Given the description of an element on the screen output the (x, y) to click on. 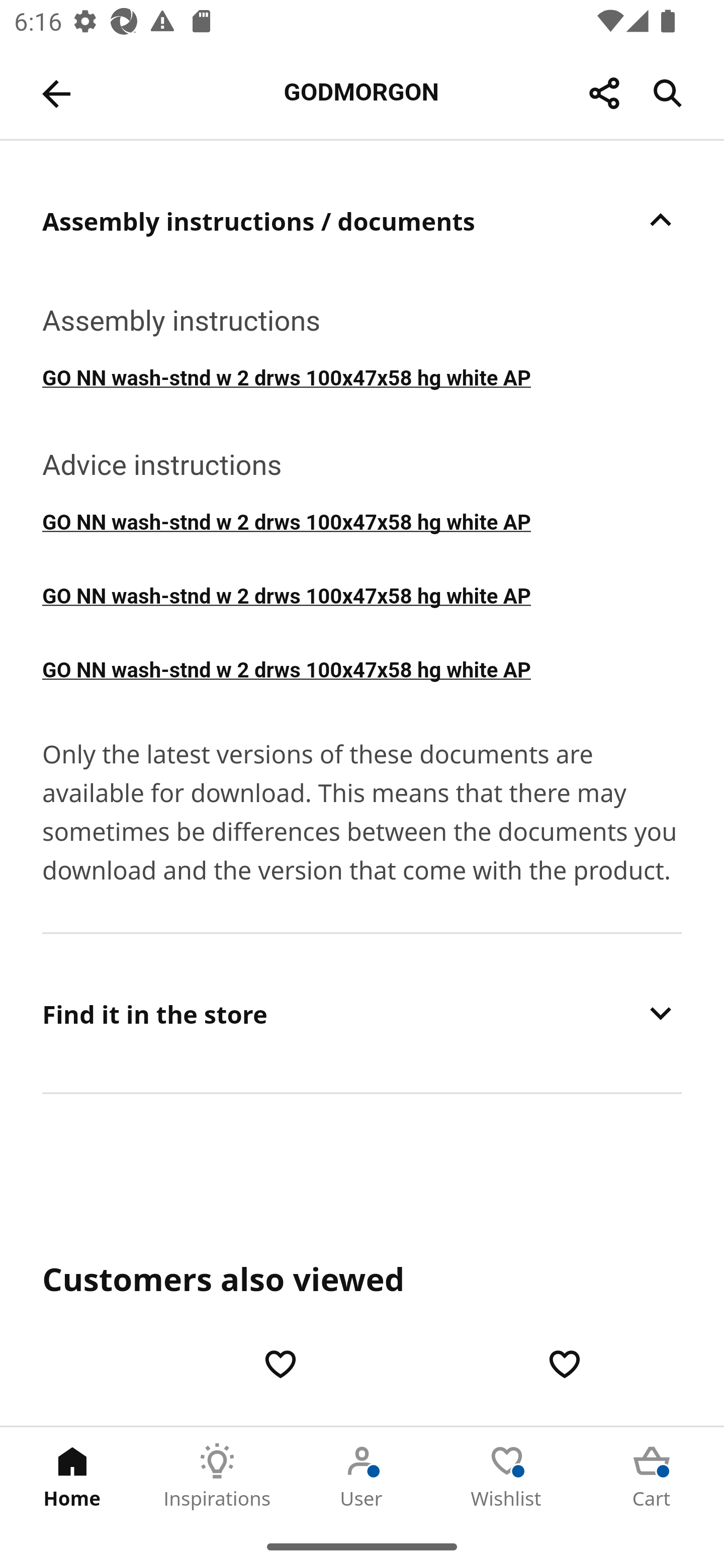
Assembly instructions / documents (361, 219)
GO NN wash-stnd w 2 drws 100x47x58 hg white AP (361, 376)
GO NN wash-stnd w 2 drws 100x47x58 hg white AP (361, 520)
GO NN wash-stnd w 2 drws 100x47x58 hg white AP (361, 593)
GO NN wash-stnd w 2 drws 100x47x58 hg white AP (361, 668)
Find it in the store (361, 1013)
Home
Tab 1 of 5 (72, 1476)
Inspirations
Tab 2 of 5 (216, 1476)
User
Tab 3 of 5 (361, 1476)
Wishlist
Tab 4 of 5 (506, 1476)
Cart
Tab 5 of 5 (651, 1476)
